Given the description of an element on the screen output the (x, y) to click on. 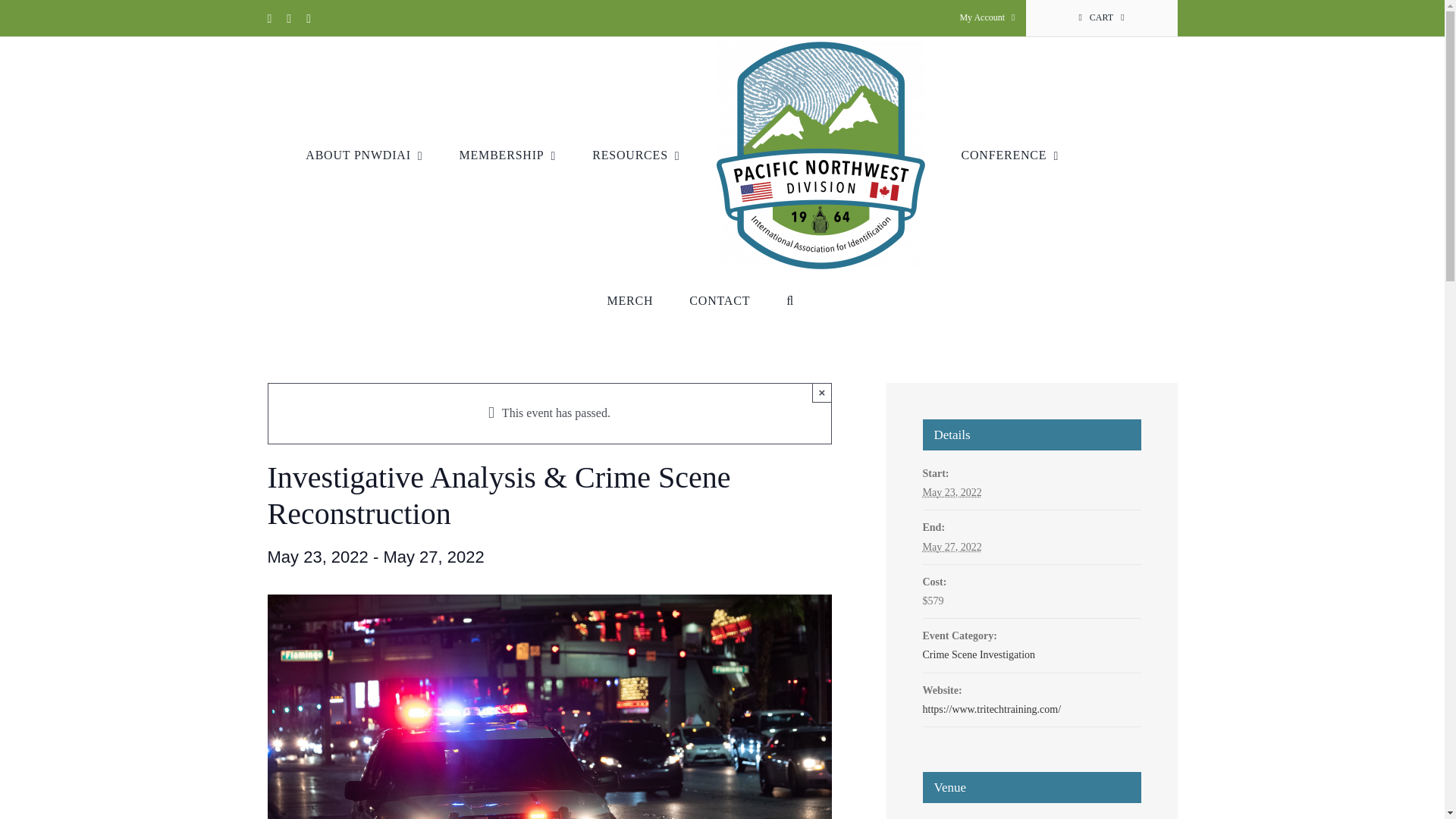
ABOUT PNWDIAI (363, 155)
MEMBERSHIP (508, 155)
RESOURCES (635, 155)
Log In (1053, 179)
My Account (987, 18)
CONTACT (718, 300)
CONFERENCE (1009, 155)
CART (1100, 18)
